Given the description of an element on the screen output the (x, y) to click on. 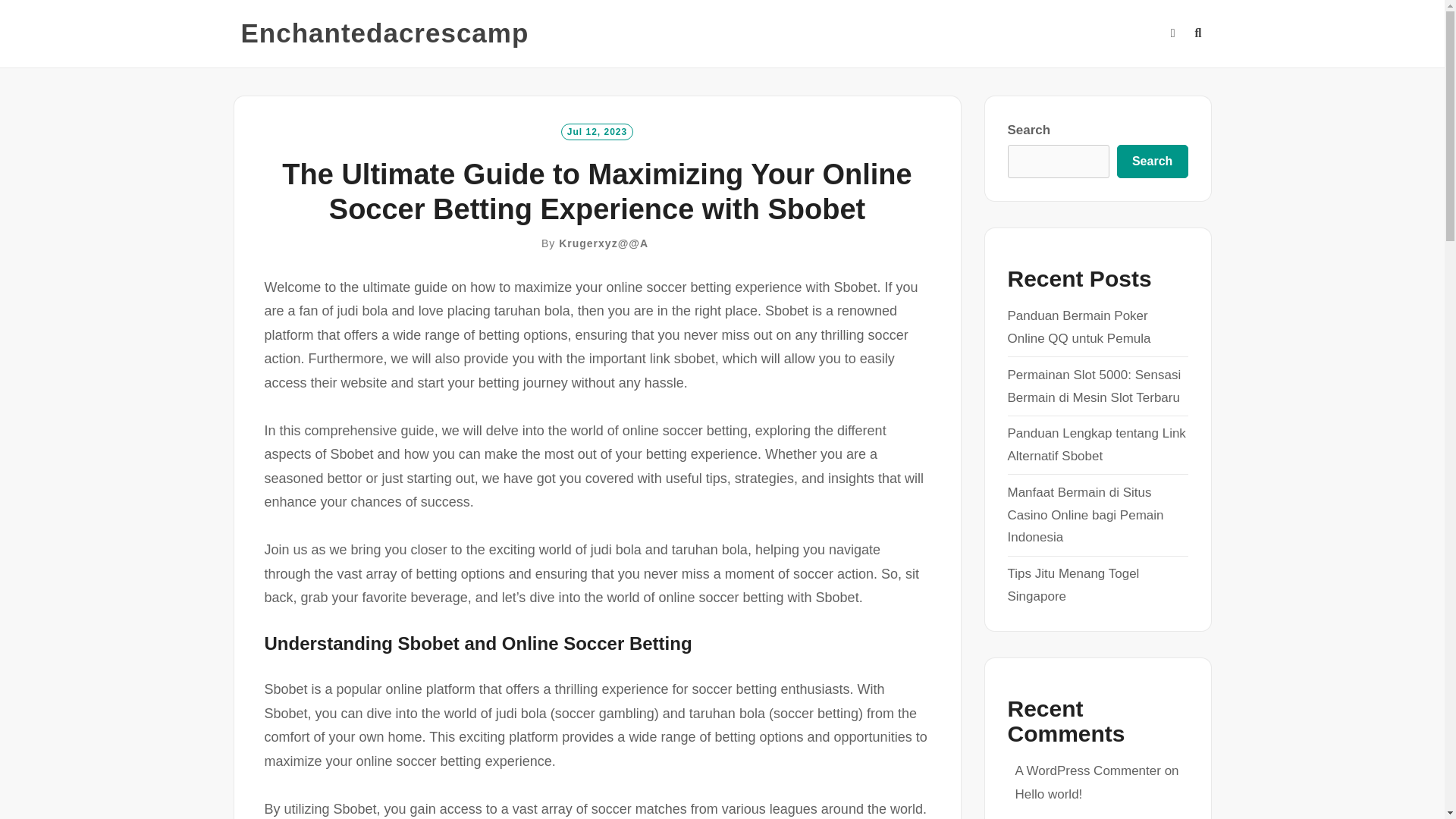
Manfaat Bermain di Situs Casino Online bagi Pemain Indonesia (1085, 515)
Jul 12, 2023 (596, 130)
Panduan Bermain Poker Online QQ untuk Pemula (1078, 326)
Permainan Slot 5000: Sensasi Bermain di Mesin Slot Terbaru (1093, 385)
Enchantedacrescamp (385, 33)
Search (1152, 161)
A WordPress Commenter (1087, 770)
Tips Jitu Menang Togel Singapore (1072, 584)
Panduan Lengkap tentang Link Alternatif Sbobet (1096, 444)
Hello world! (1047, 794)
